Given the description of an element on the screen output the (x, y) to click on. 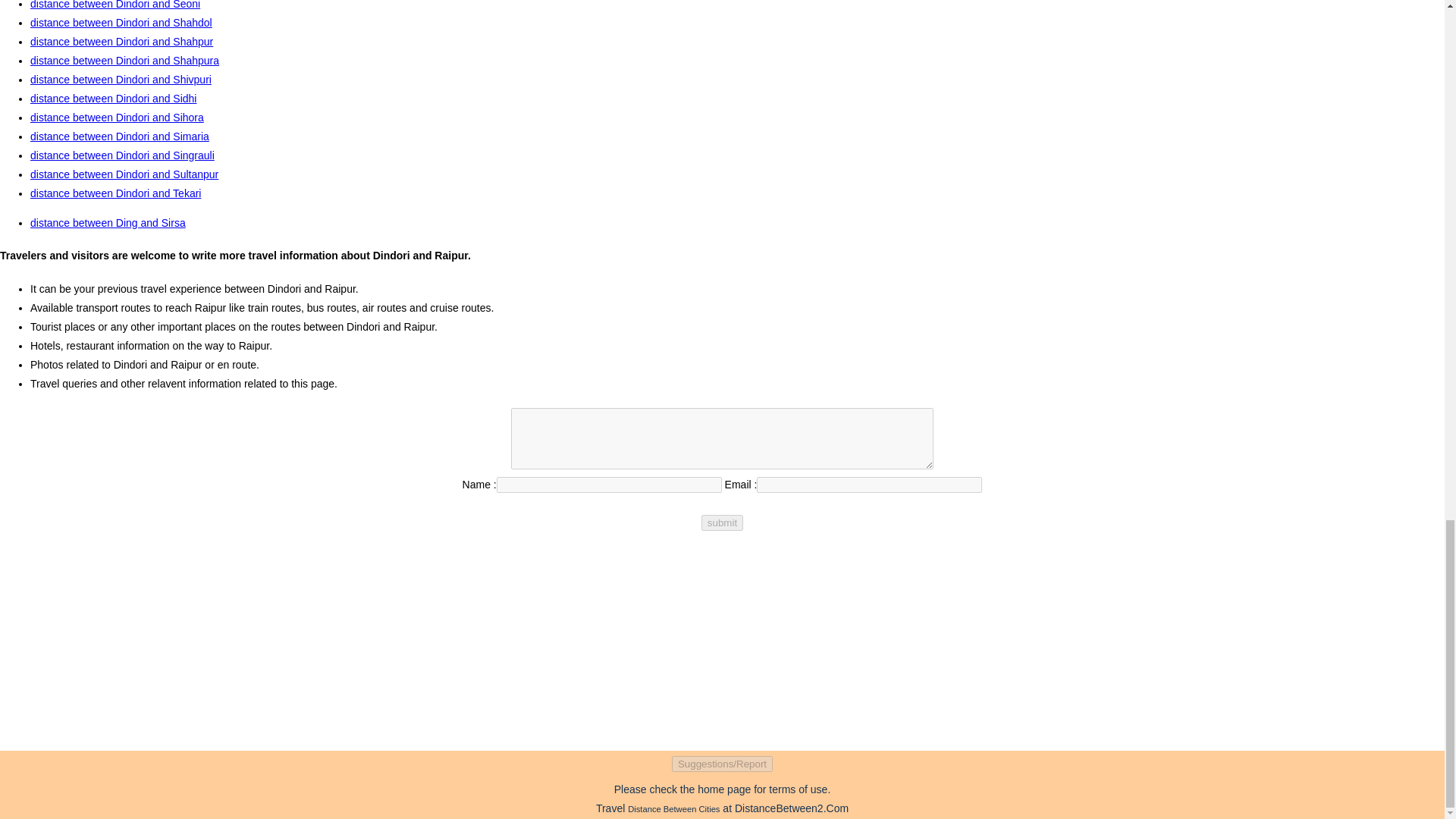
distance between Dindori and Shahdol (121, 22)
distance between Dindori and Sihora (116, 117)
distance between Dindori and Singrauli (122, 155)
distance between Dindori and Shahpur (121, 41)
distance between Dindori and Sidhi (113, 98)
distance between Dindori and Tekari (115, 193)
distance between Dindori and Shahpura (124, 60)
distance between Dindori and Sultanpur (124, 174)
distance between Dindori and Shivpuri (120, 79)
